Given the description of an element on the screen output the (x, y) to click on. 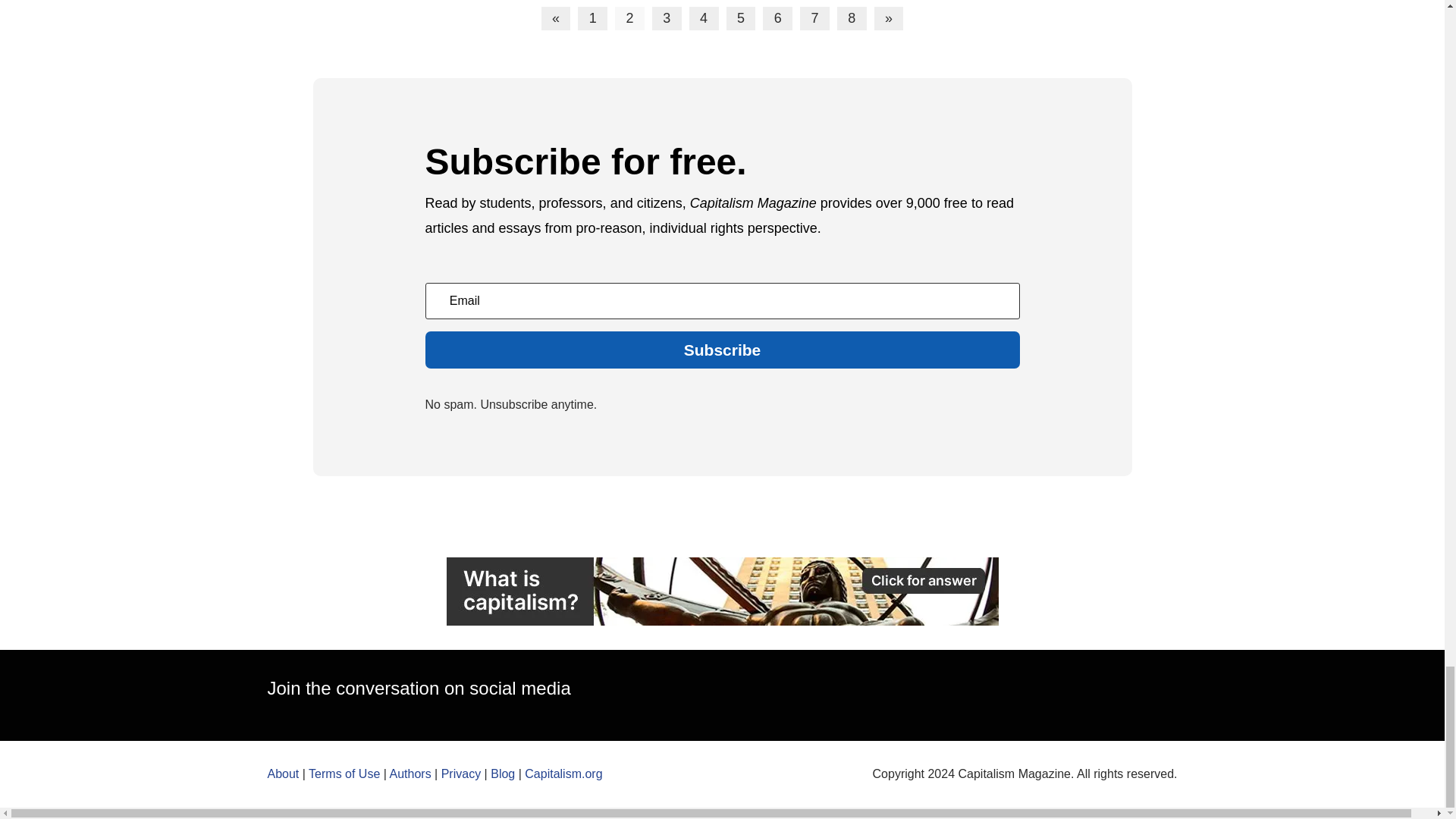
Page 5 (740, 18)
Page 1 (592, 18)
Capitalism Tour (721, 591)
Page 4 (703, 18)
Page 6 (777, 18)
Page 3 (666, 18)
Page 7 (814, 18)
Page 8 (851, 18)
